Given the description of an element on the screen output the (x, y) to click on. 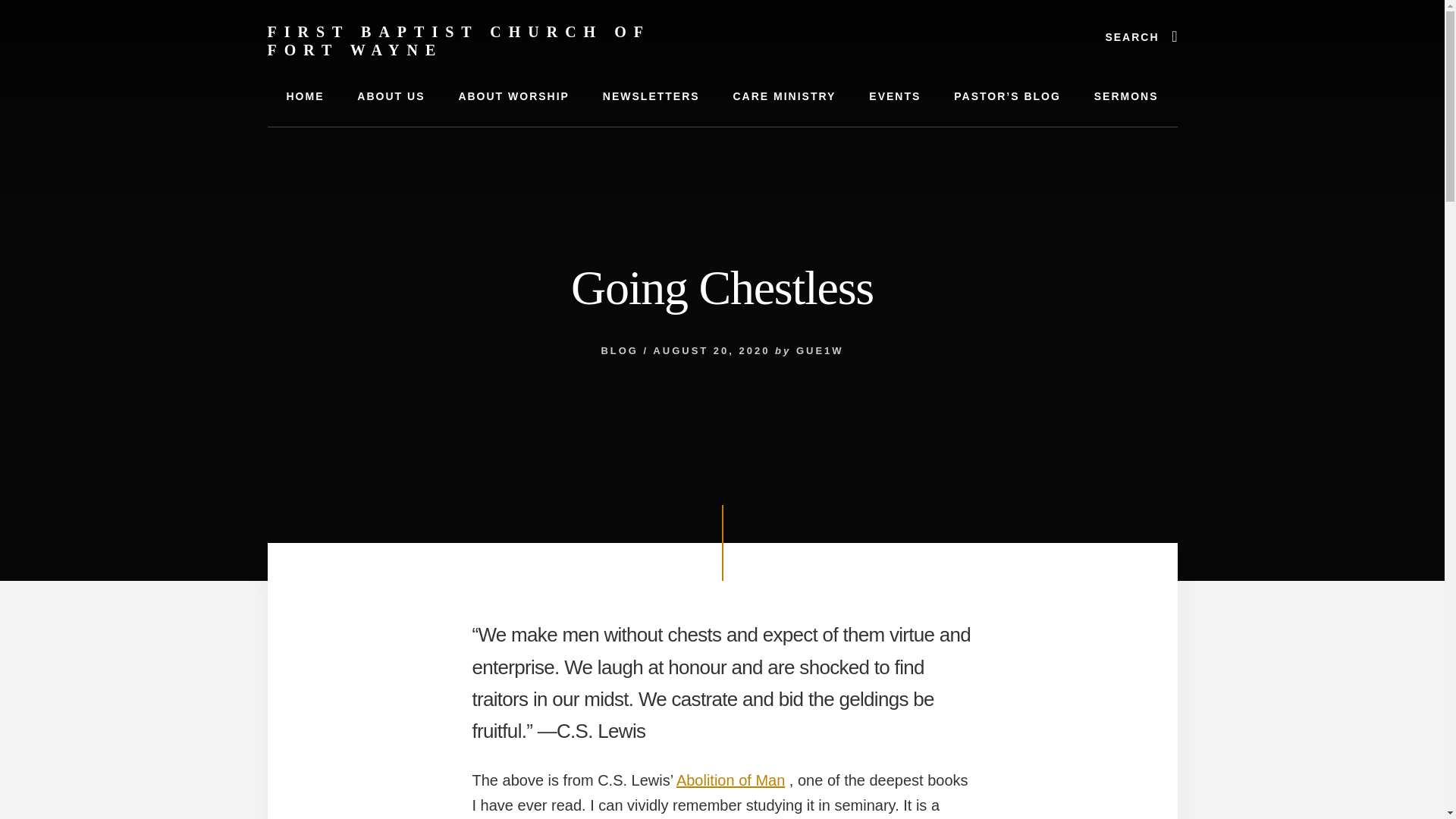
CARE MINISTRY (783, 96)
FIRST BAPTIST CHURCH OF FORT WAYNE (457, 40)
GUE1W (820, 350)
ABOUT US (390, 96)
SERMONS (1125, 96)
NEWSLETTERS (651, 96)
ABOUT WORSHIP (513, 96)
